Given the description of an element on the screen output the (x, y) to click on. 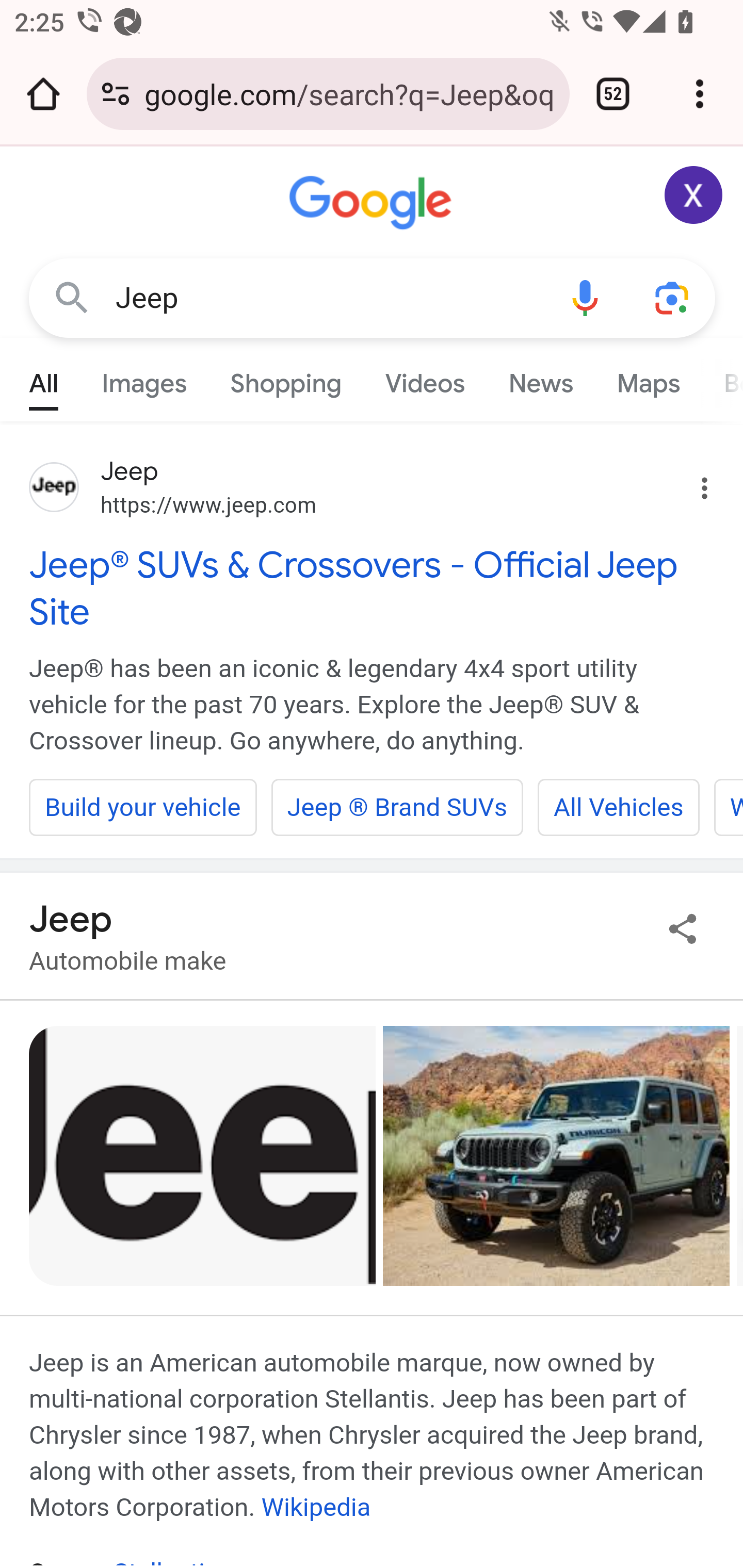
Open the home page (43, 93)
Connection is secure (115, 93)
Switch or close tabs (612, 93)
Customize and control Google Chrome (699, 93)
Google (372, 203)
Google Account: Xiaoran (zxrappiumtest@gmail.com) (694, 195)
Google Search (71, 296)
Search using your camera or photos (672, 296)
Jeep (328, 297)
Images (144, 378)
Shopping (285, 378)
Videos (424, 378)
News (540, 378)
Maps (647, 378)
Jeep® SUVs & Crossovers - Official Jeep Site (372, 587)
Build your vehicle (142, 807)
Jeep ® Brand SUVs (397, 807)
All Vehicles (618, 807)
Share (683, 928)
Wikipedia (316, 1507)
